Given the description of an element on the screen output the (x, y) to click on. 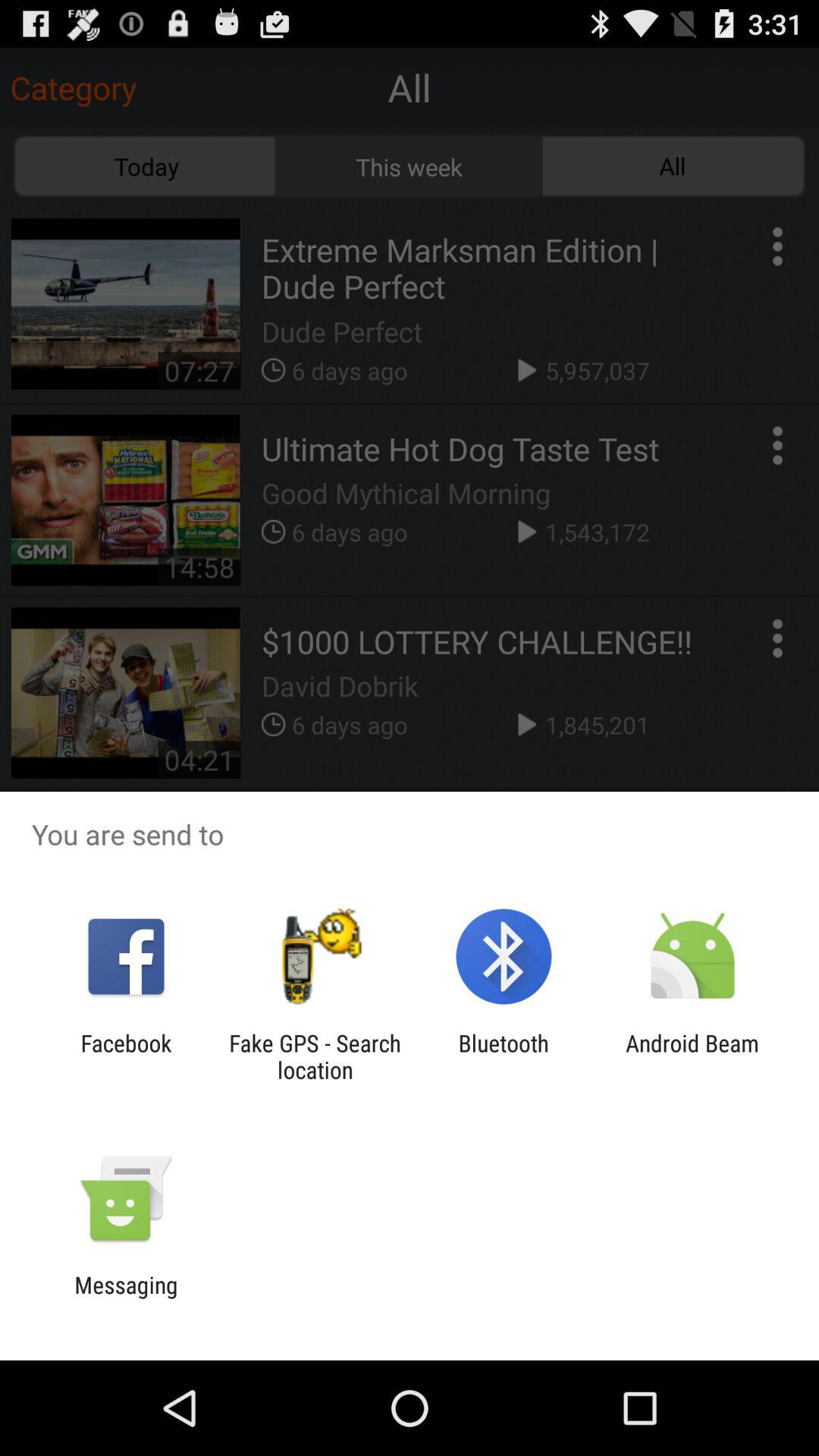
jump to fake gps search item (314, 1056)
